Given the description of an element on the screen output the (x, y) to click on. 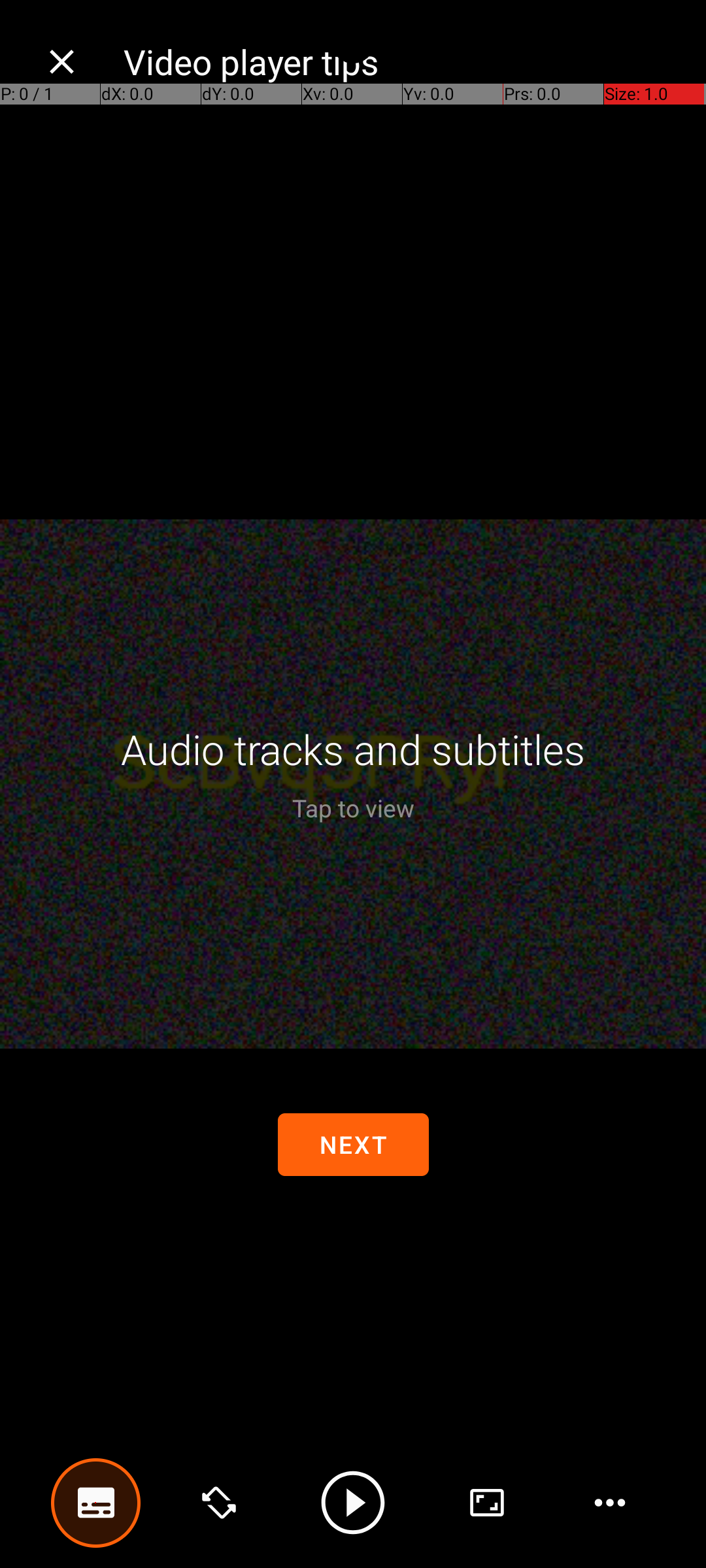
Video player. Tap to show controls. Tap the back button to hide them Element type: android.widget.FrameLayout (353, 784)
Video player tips Element type: android.widget.TextView (400, 61)
Audio tracks and subtitles Element type: android.widget.TextView (352, 748)
Tap to view Element type: android.widget.TextView (353, 807)
advanced options Element type: android.widget.ImageView (486, 1502)
